Given the description of an element on the screen output the (x, y) to click on. 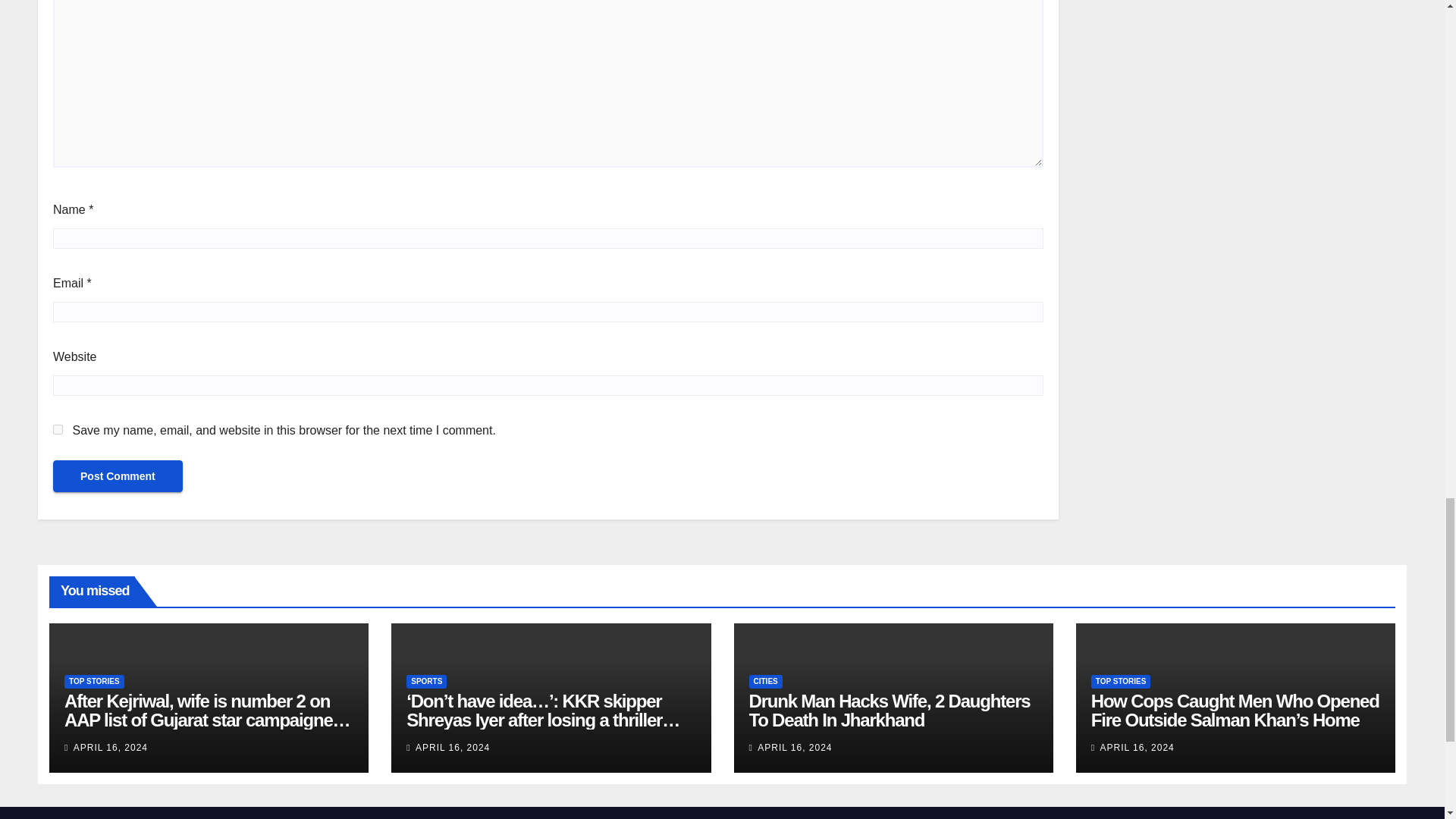
yes (57, 429)
Post Comment (117, 476)
